Given the description of an element on the screen output the (x, y) to click on. 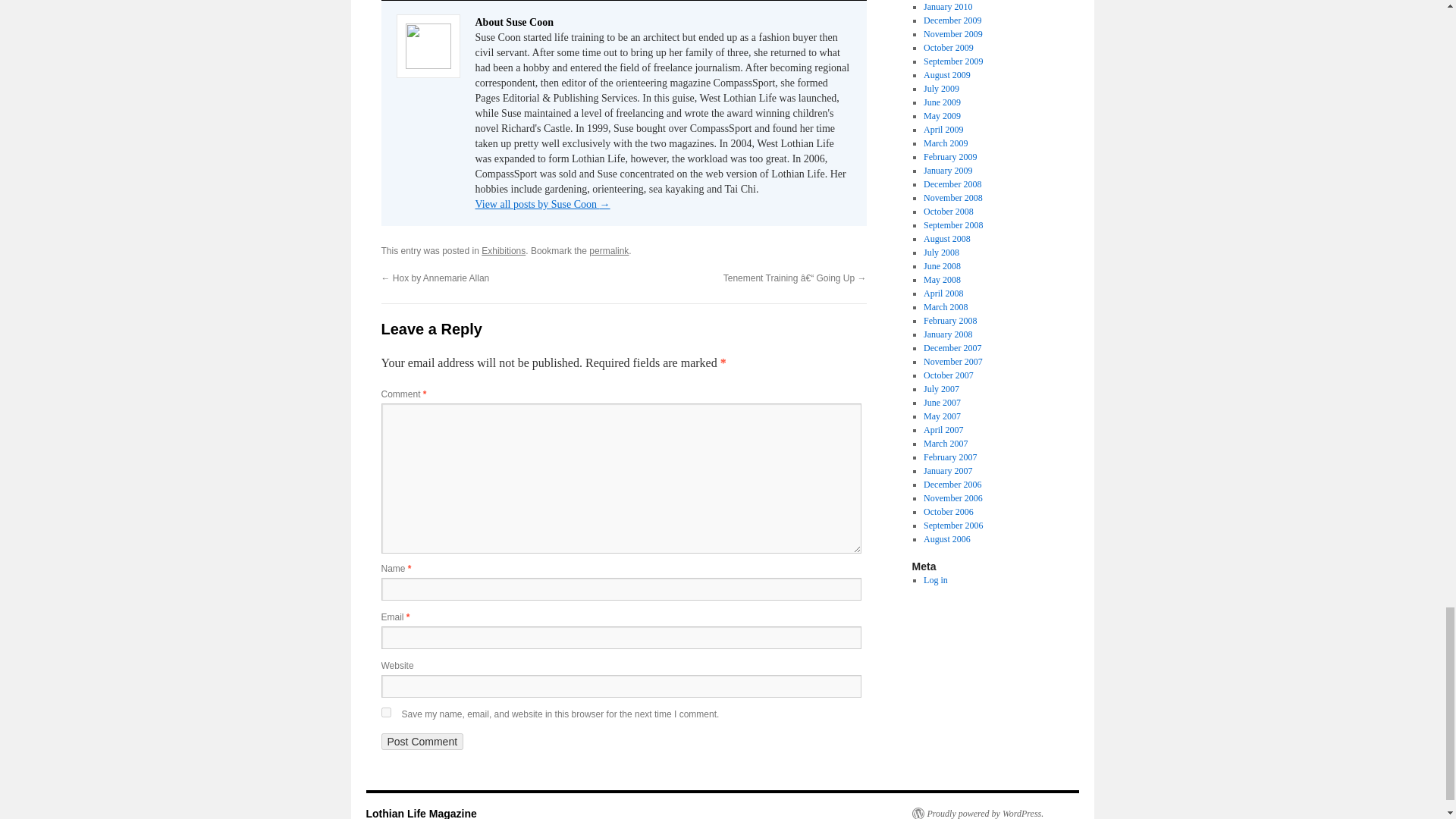
yes (385, 712)
permalink (608, 250)
Post Comment (421, 741)
Exhibitions (503, 250)
Post Comment (421, 741)
